Given the description of an element on the screen output the (x, y) to click on. 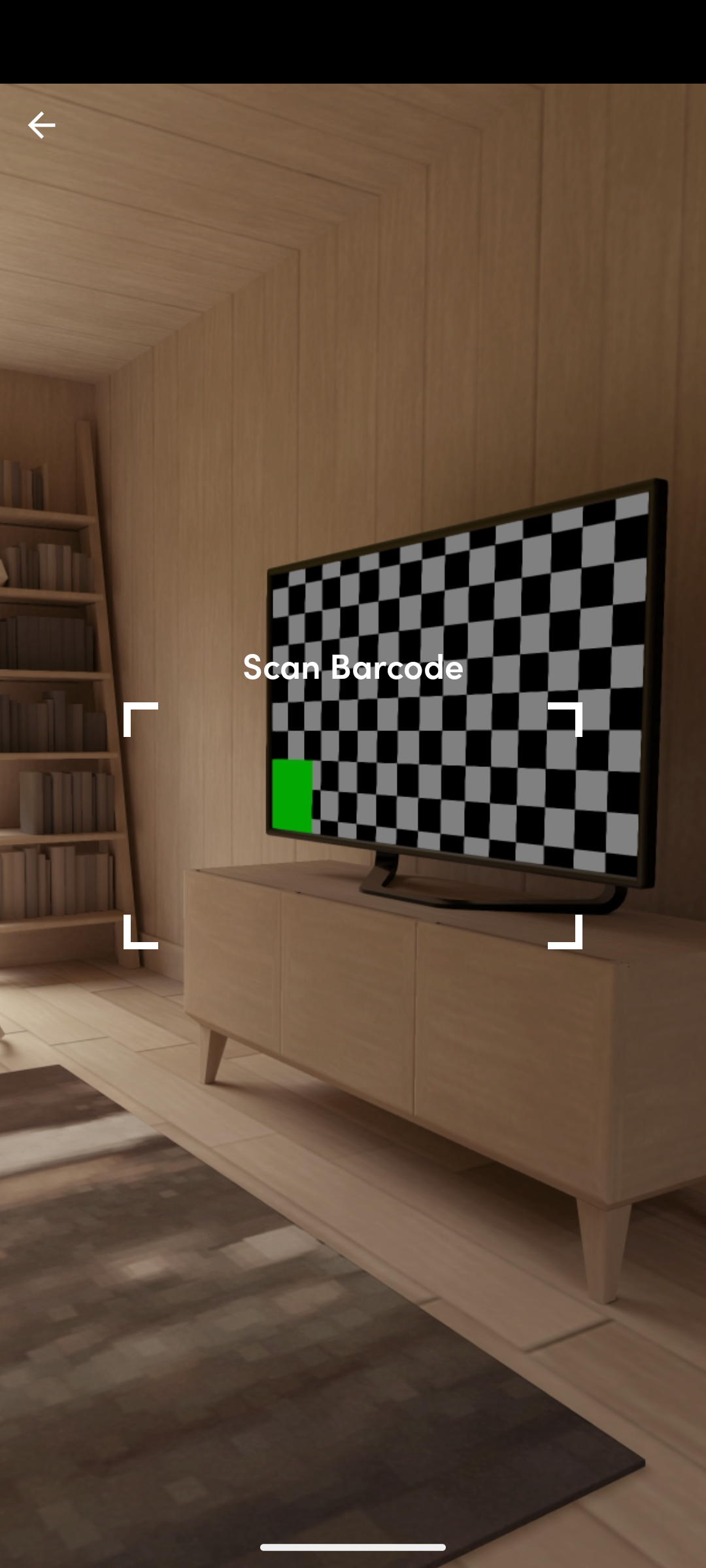
top_left_action (41, 125)
